Given the description of an element on the screen output the (x, y) to click on. 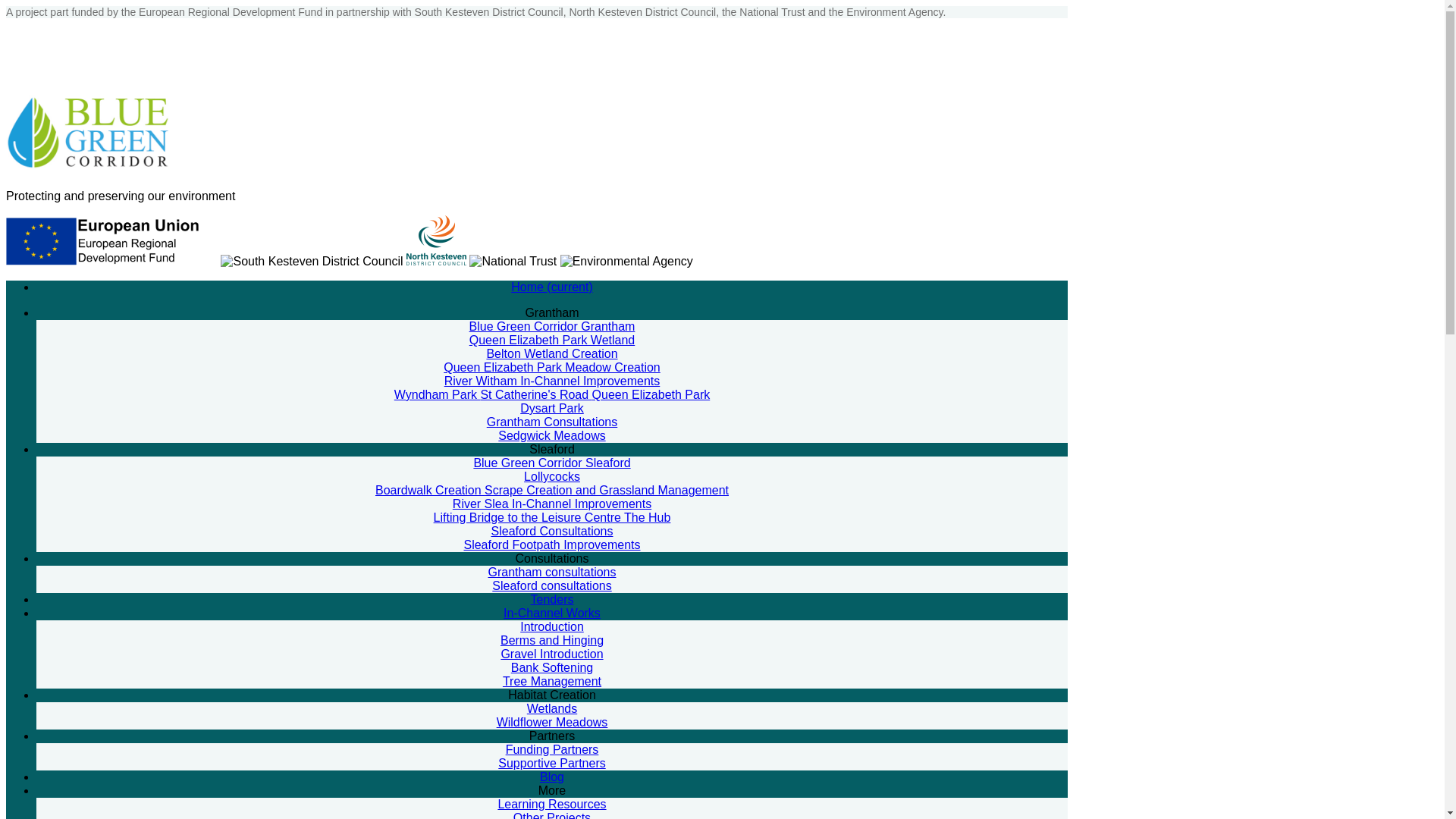
Sedgwick Meadows (551, 435)
Blue Green Corridor Grantham (551, 326)
River Witham In-Channel Improvements (552, 380)
Partners (552, 735)
Sleaford Consultations (552, 530)
Funding Partners (551, 748)
Learning Resources (551, 803)
Wetlands (551, 707)
Tree Management (551, 680)
Lifting Bridge to the Leisure Centre (528, 517)
Blue Green Corridor Sleaford (551, 462)
Blog (552, 776)
Queen Elizabeth Park Wetland (551, 339)
Introduction (551, 626)
Scrape Creation and Grassland Management (606, 490)
